Given the description of an element on the screen output the (x, y) to click on. 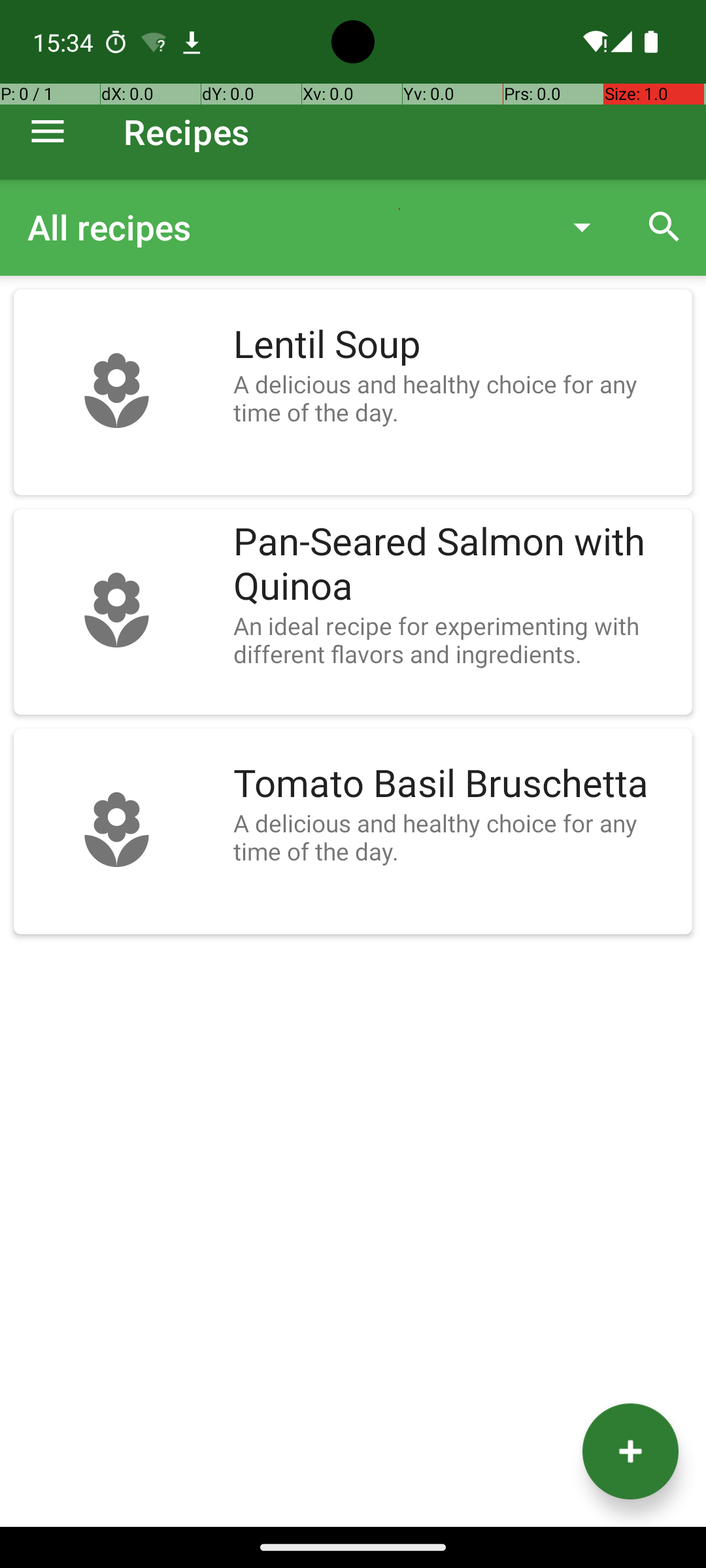
Tomato Basil Bruschetta Element type: android.widget.TextView (455, 783)
